Given the description of an element on the screen output the (x, y) to click on. 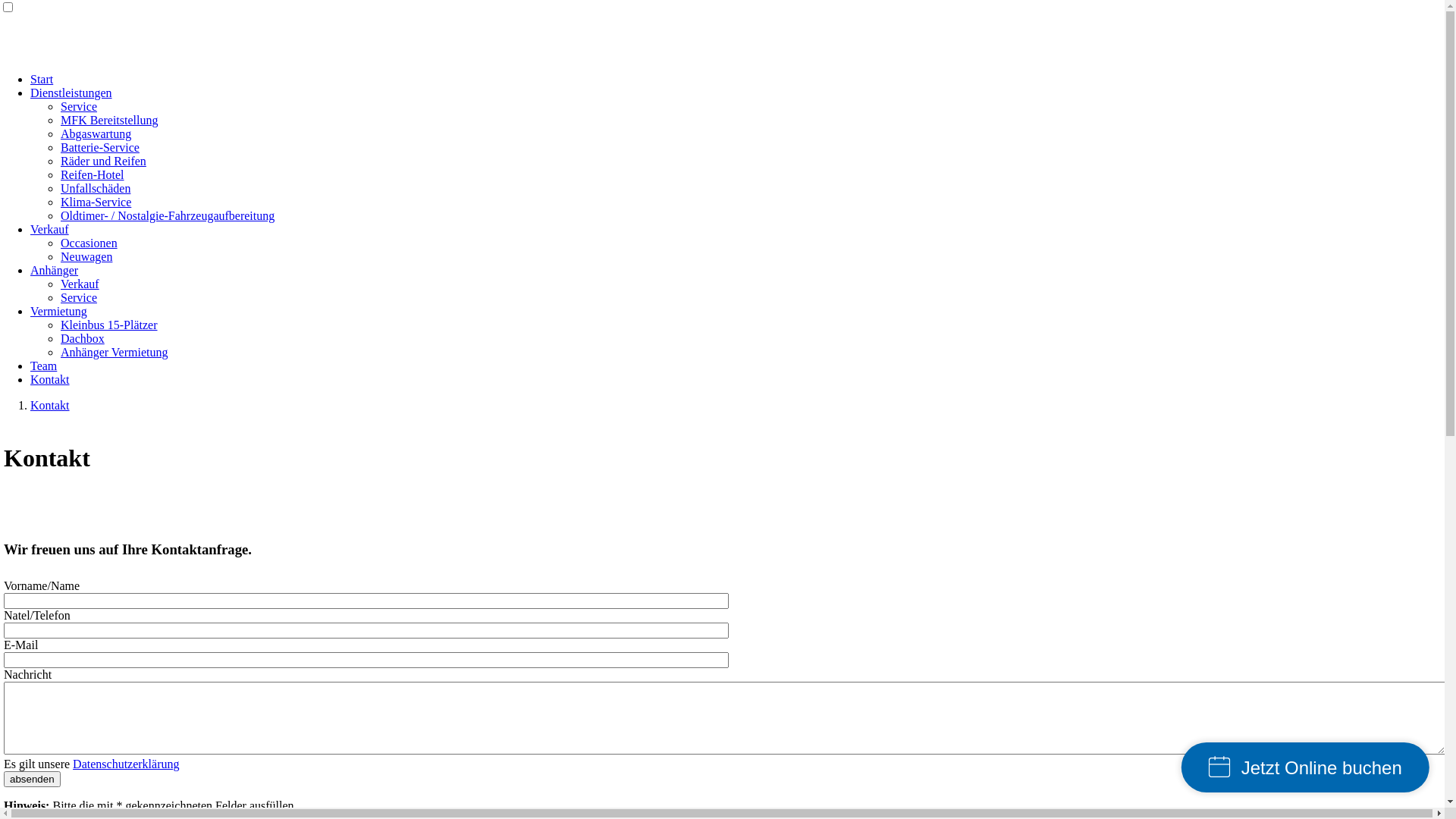
Team Element type: text (43, 365)
Verkauf Element type: text (49, 228)
Batterie-Service Element type: text (99, 147)
Reifen-Hotel Element type: text (92, 174)
Occasionen Element type: text (88, 242)
Abgaswartung Element type: text (95, 133)
Kontakt Element type: text (49, 404)
Jetzt Online buchen Element type: text (1263, 758)
Kontakt Element type: text (49, 379)
Dachbox Element type: text (82, 338)
Dienstleistungen Element type: text (71, 92)
Oldtimer- / Nostalgie-Fahrzeugaufbereitung Element type: text (167, 215)
Verkauf Element type: text (79, 283)
Neuwagen Element type: text (86, 256)
Start Element type: text (41, 78)
Service Element type: text (78, 297)
absenden Element type: text (31, 779)
Klima-Service Element type: text (95, 201)
Vermietung Element type: text (58, 310)
MFK Bereitstellung Element type: text (108, 119)
Service Element type: text (78, 106)
